Given the description of an element on the screen output the (x, y) to click on. 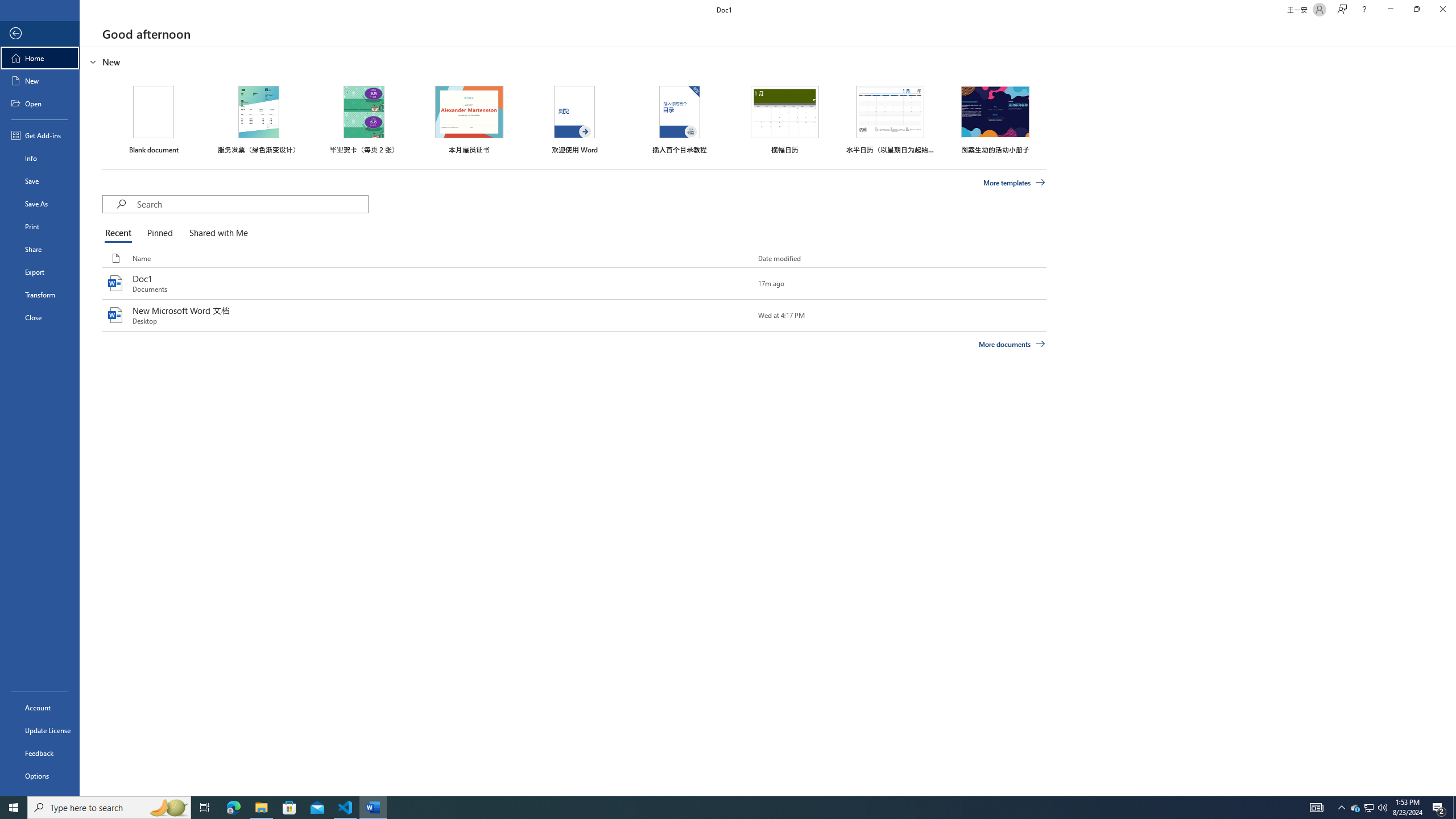
Open (40, 102)
Blank document (153, 119)
Share (40, 248)
Export (40, 271)
System (6, 6)
Shared with Me (215, 233)
Pinned (159, 233)
More documents (1011, 343)
Print (40, 225)
Help (1364, 9)
